Given the description of an element on the screen output the (x, y) to click on. 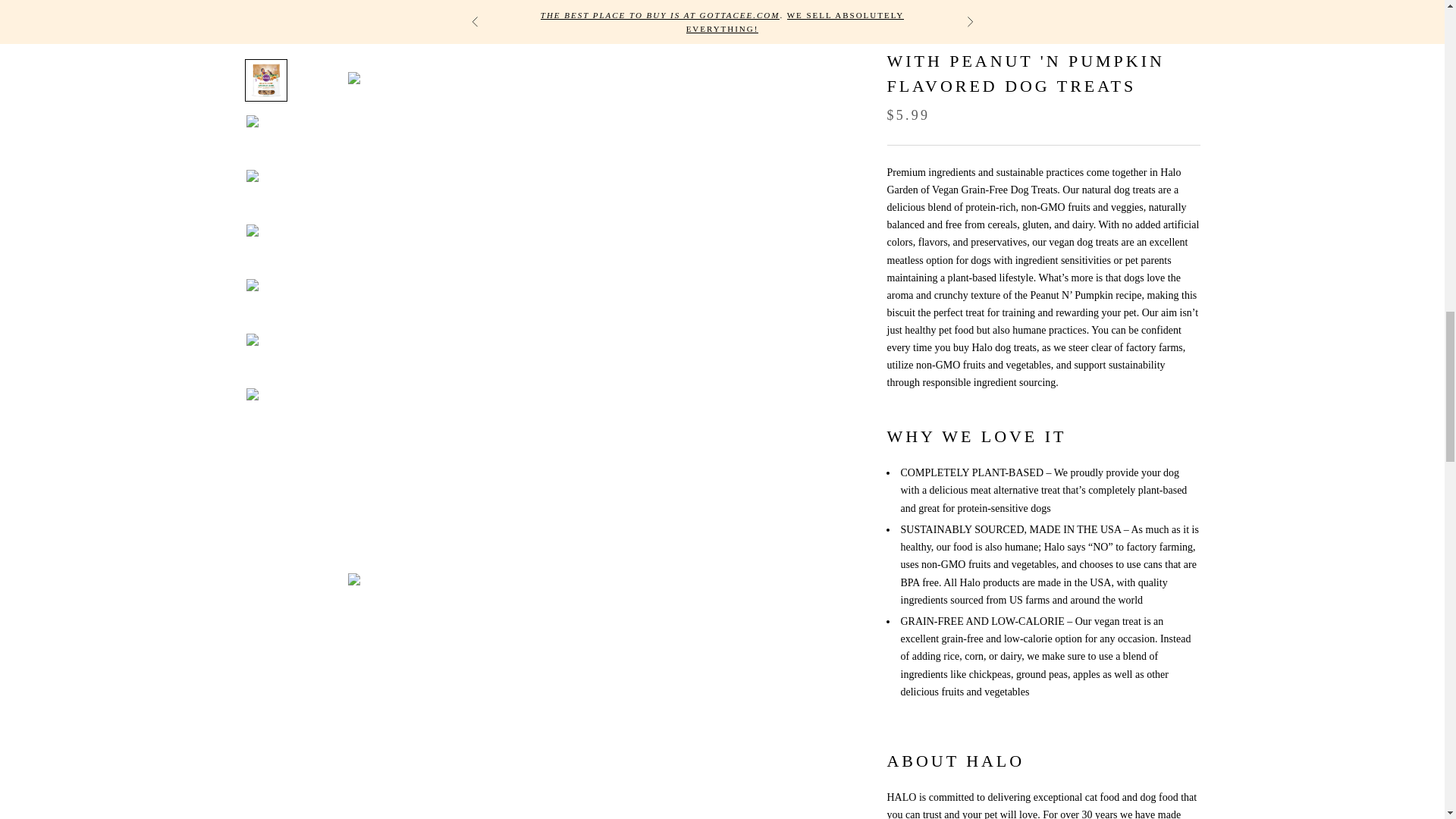
Decrease quantity (967, 1)
ADD TO CART (1042, 44)
1 (935, 1)
Decrease quantity (903, 1)
